Given the description of an element on the screen output the (x, y) to click on. 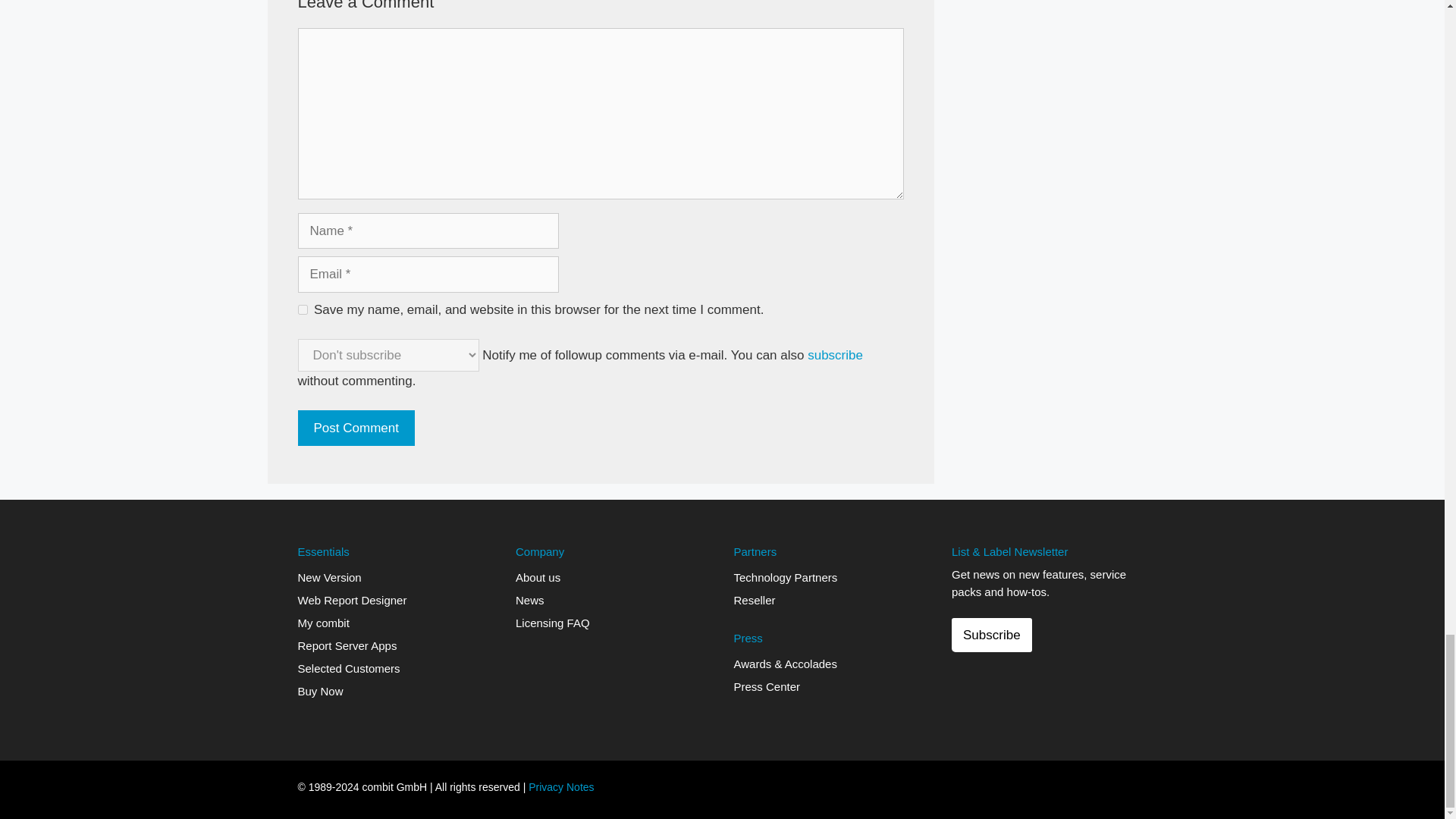
yes (302, 309)
Post Comment (355, 428)
